Given the description of an element on the screen output the (x, y) to click on. 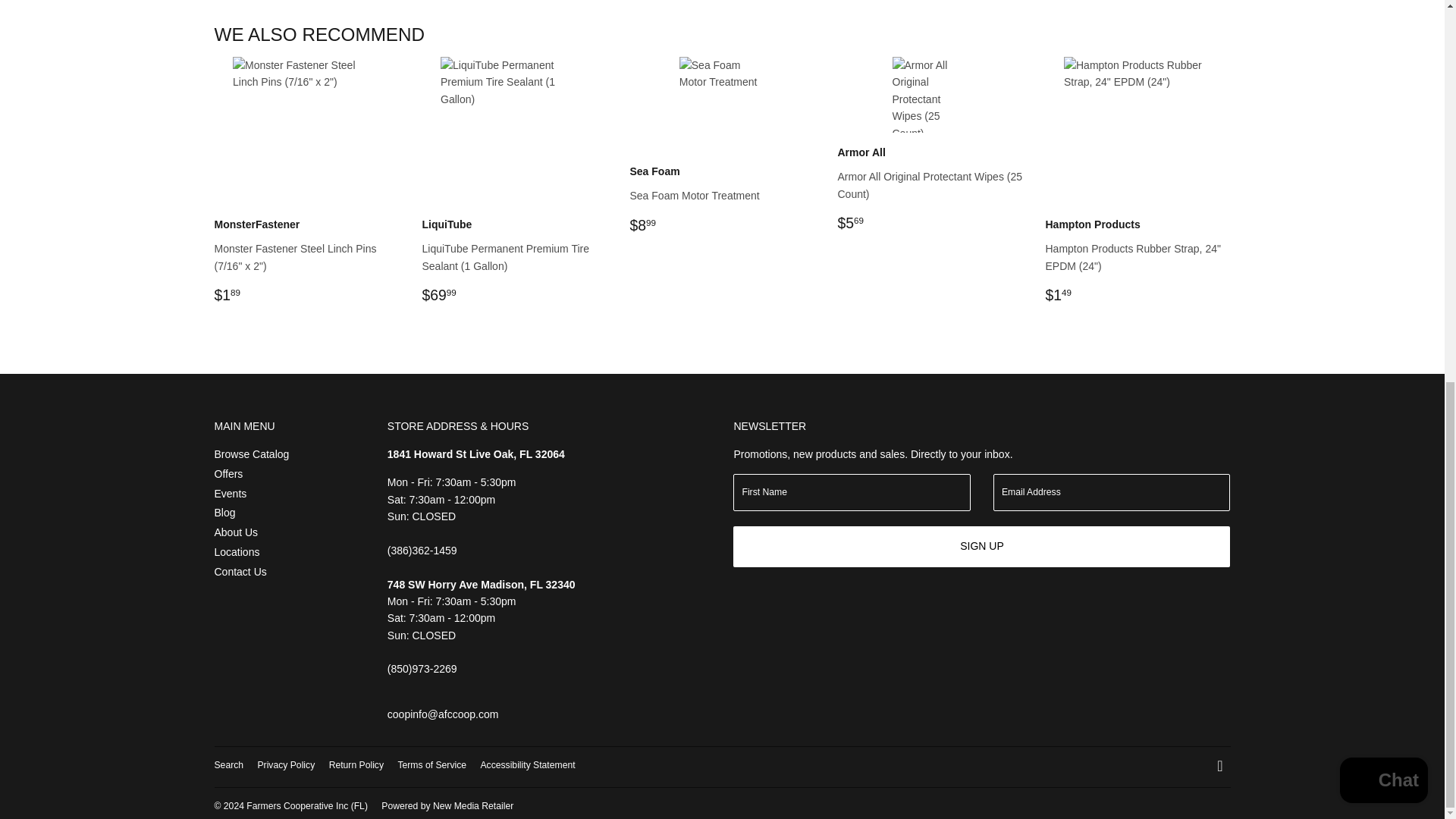
New Media Retailer (447, 805)
Shopify online store chat (1383, 66)
